Given the description of an element on the screen output the (x, y) to click on. 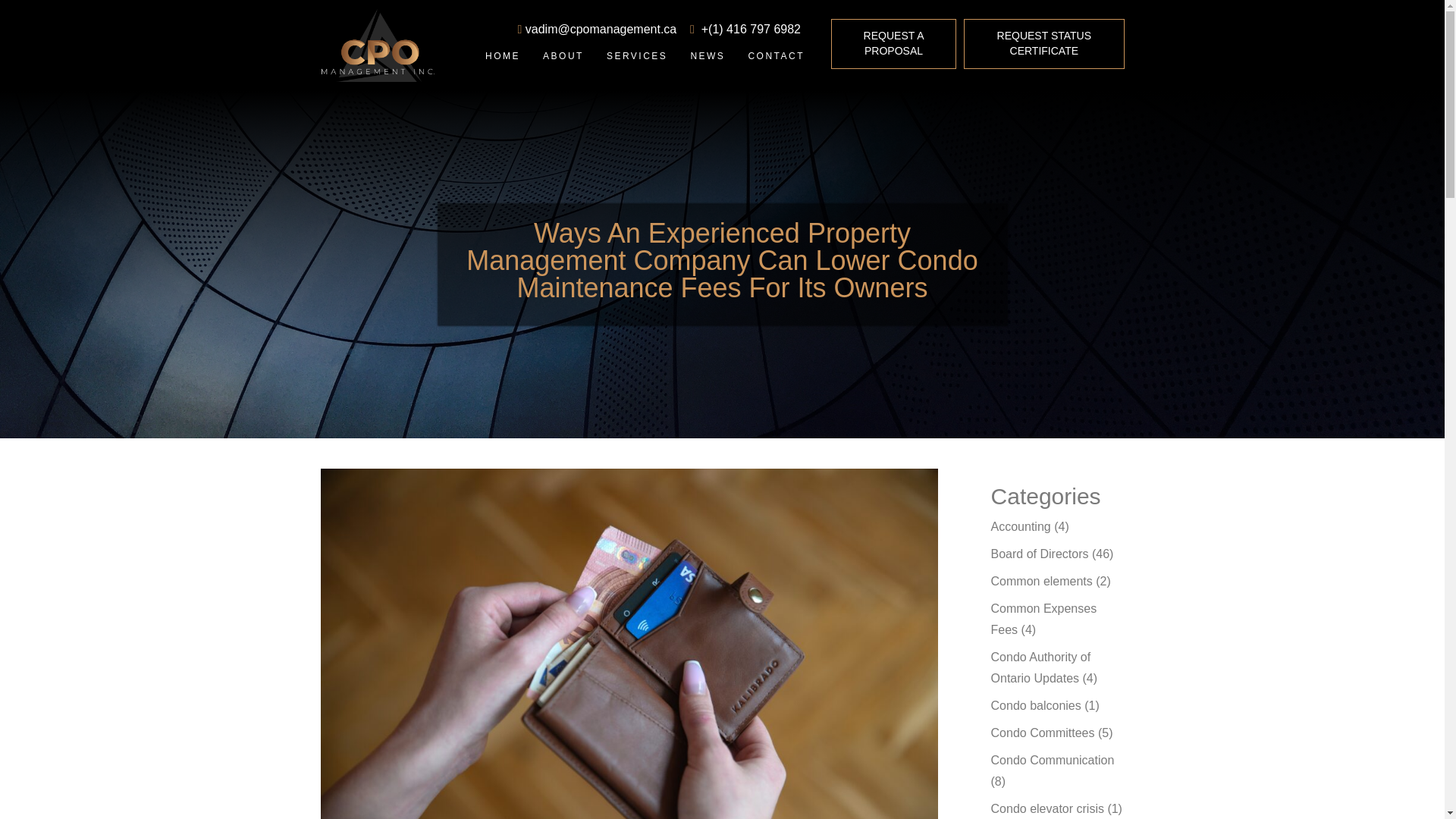
HOME (502, 55)
cpo-logo-final-dark (376, 45)
ABOUT (563, 55)
REQUEST STATUS CERTIFICATE (1043, 43)
NEWS (707, 55)
REQUEST A PROPOSAL (893, 43)
SERVICES (636, 55)
CONTACT (775, 55)
